Given the description of an element on the screen output the (x, y) to click on. 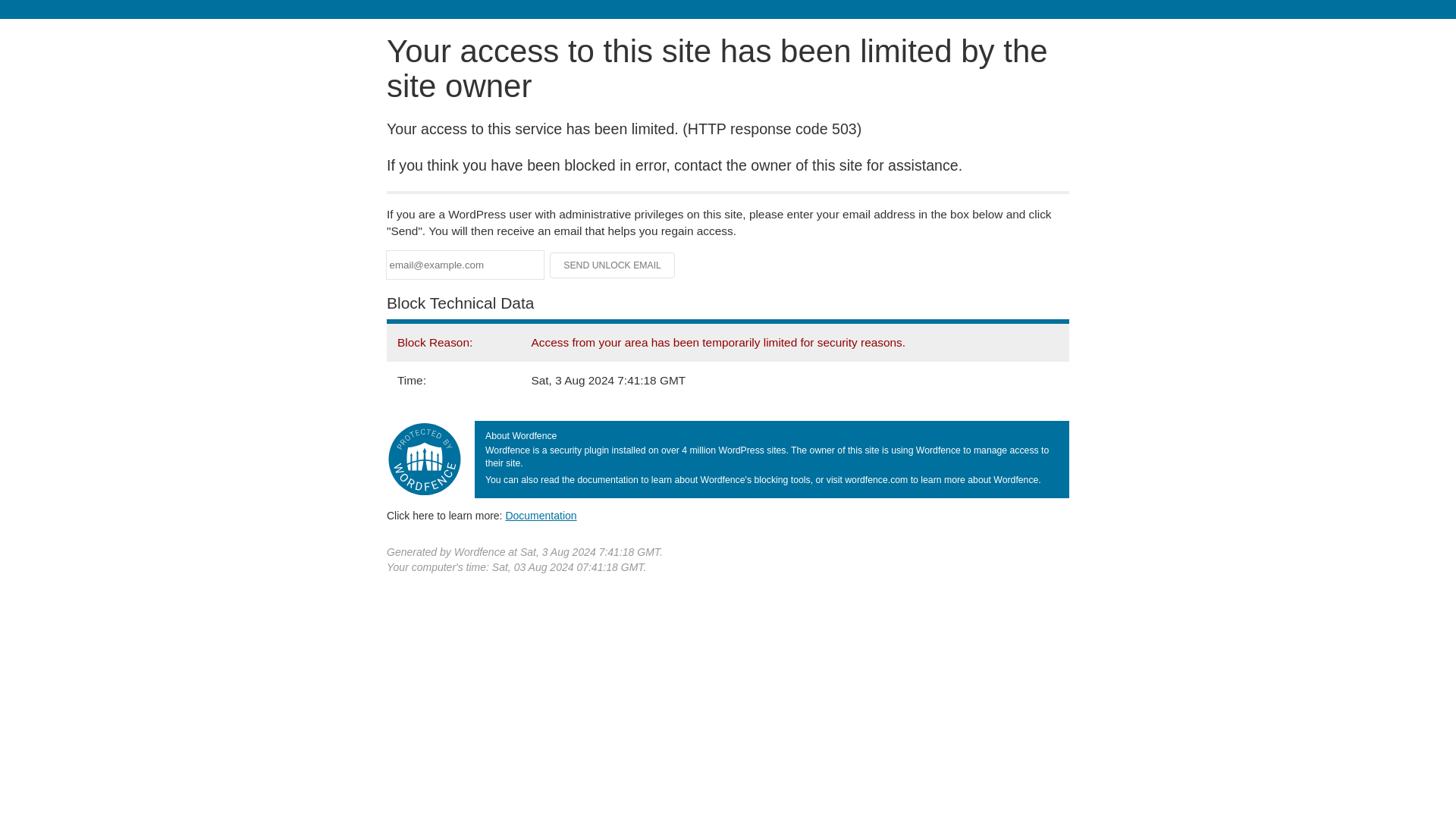
Send Unlock Email (612, 265)
Documentation (540, 515)
Send Unlock Email (612, 265)
